Given the description of an element on the screen output the (x, y) to click on. 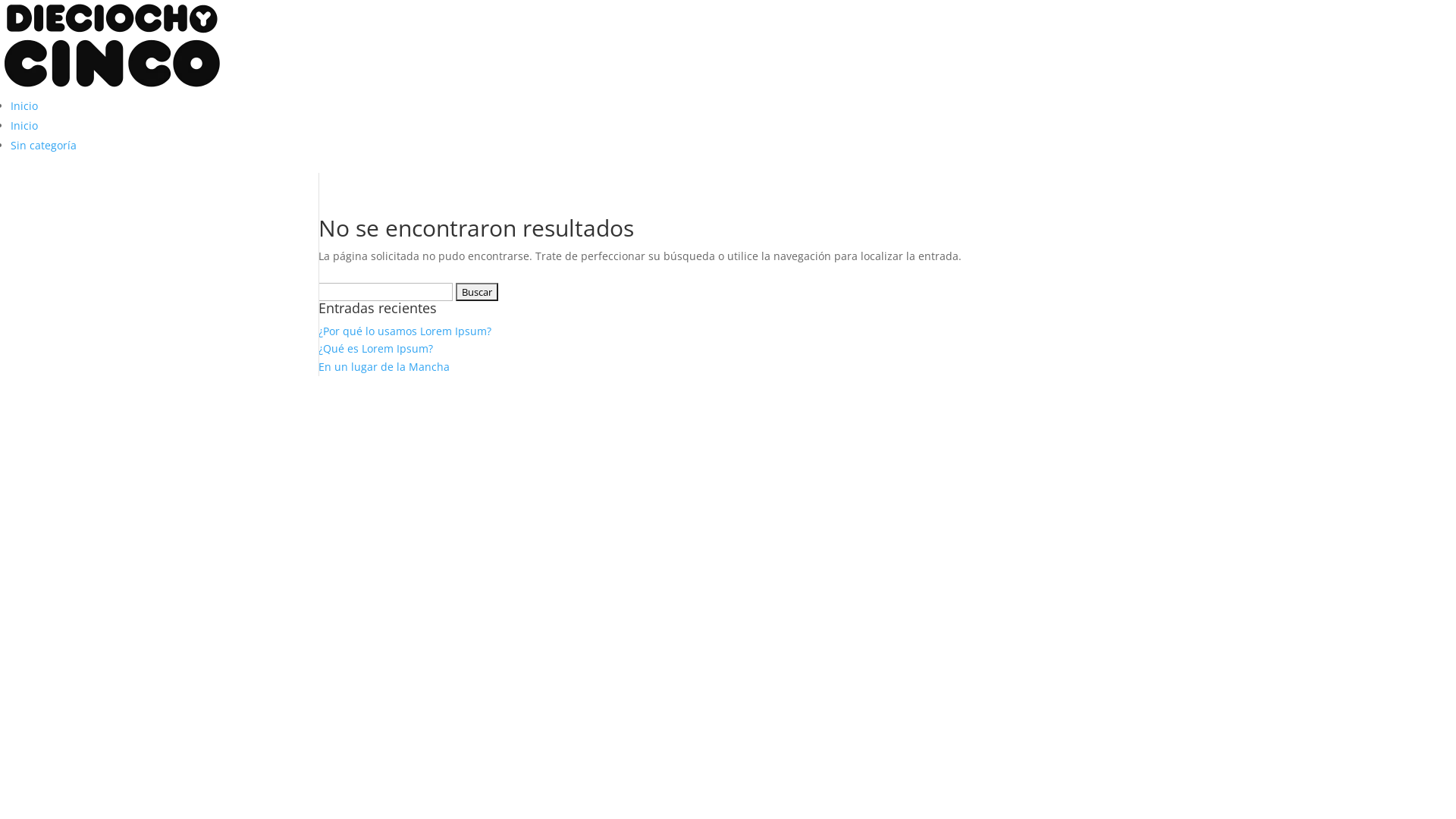
Buscar Element type: text (476, 291)
En un lugar de la Mancha Element type: text (383, 366)
Inicio Element type: text (23, 125)
Inicio Element type: text (23, 105)
